Given the description of an element on the screen output the (x, y) to click on. 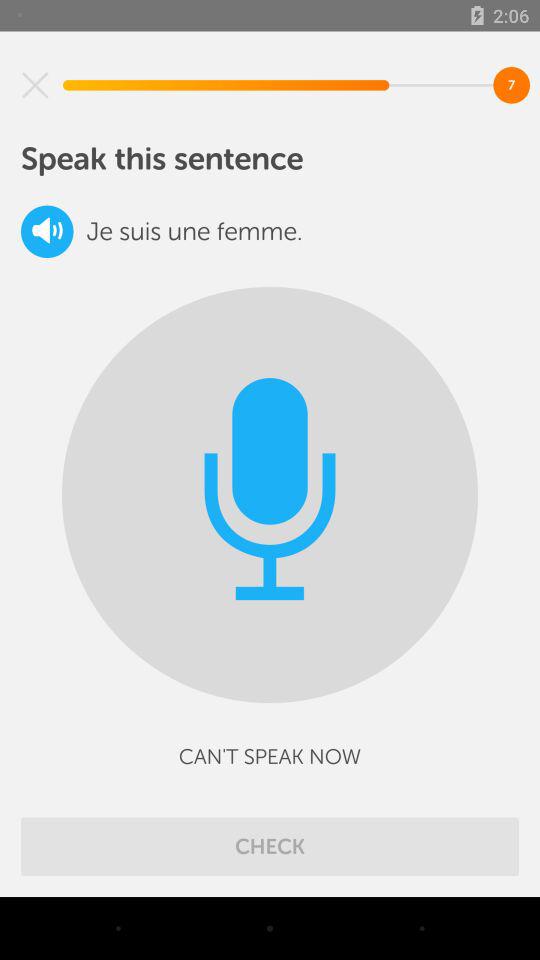
scroll until can t speak icon (270, 756)
